Given the description of an element on the screen output the (x, y) to click on. 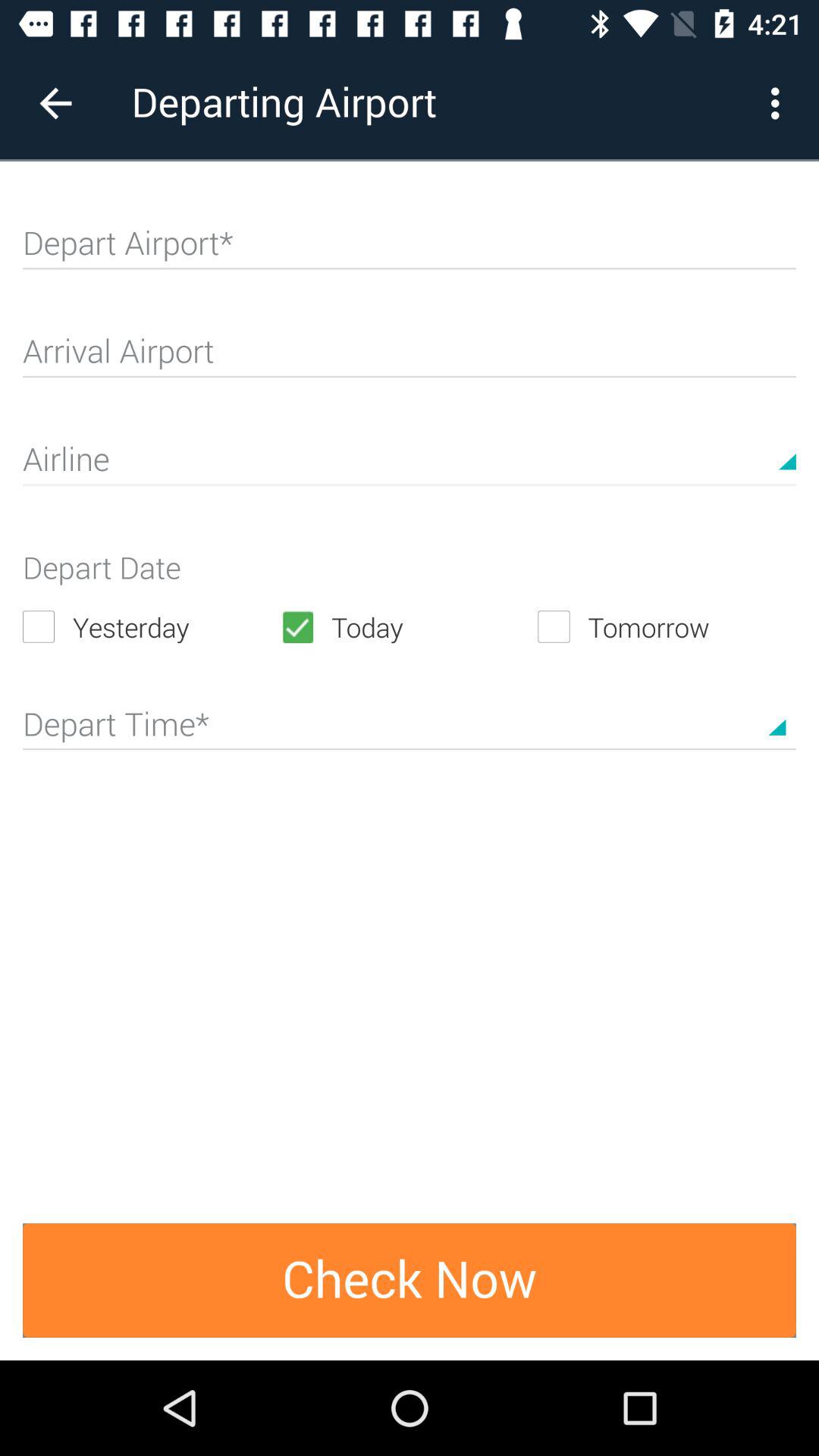
enter airline (409, 465)
